Given the description of an element on the screen output the (x, y) to click on. 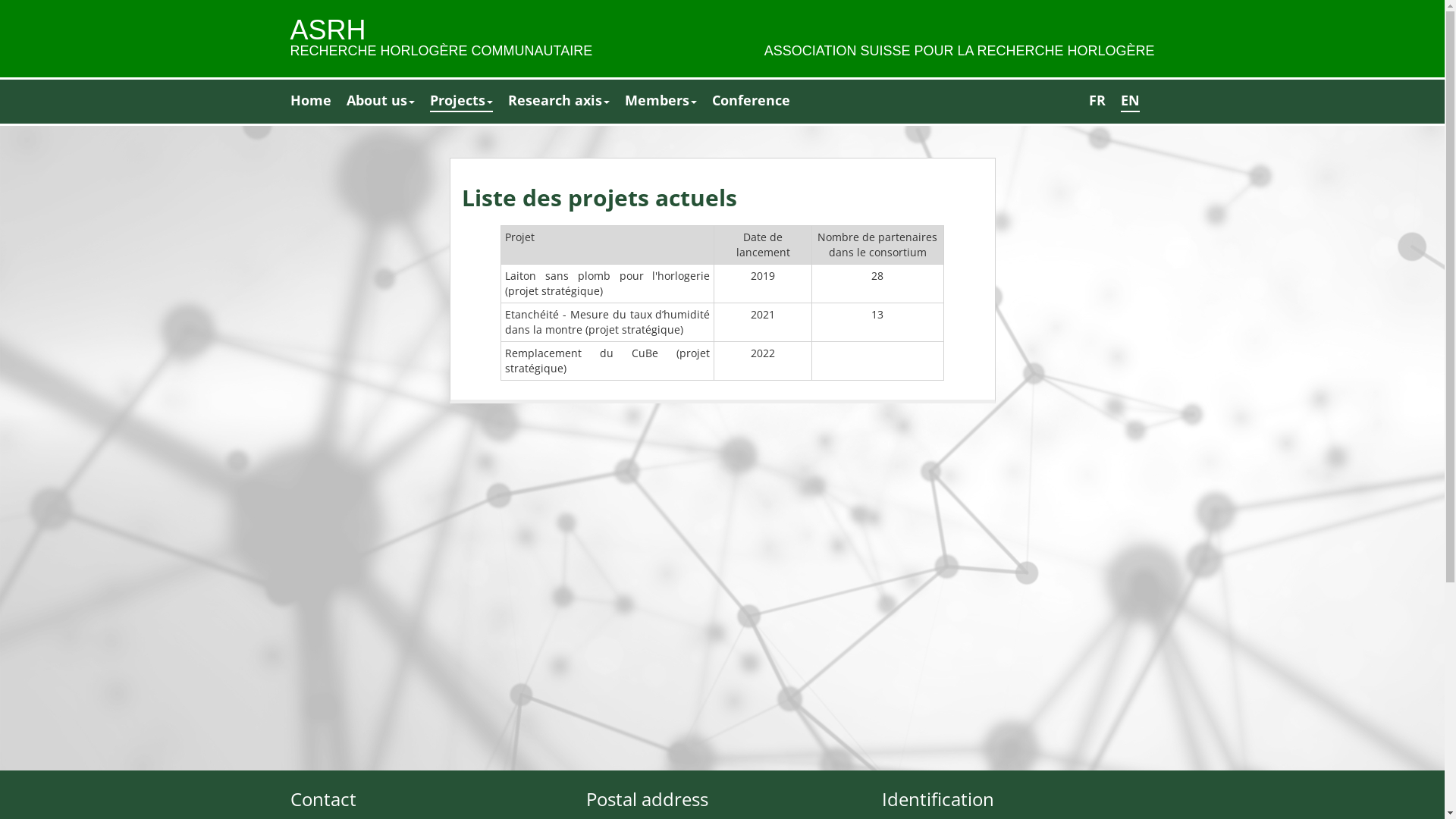
Conference Element type: text (750, 100)
About us Element type: text (379, 100)
FR Element type: text (1096, 100)
Research axis Element type: text (558, 100)
Home Element type: text (309, 100)
EN Element type: text (1129, 101)
Members Element type: text (660, 100)
Projects Element type: text (460, 101)
